Given the description of an element on the screen output the (x, y) to click on. 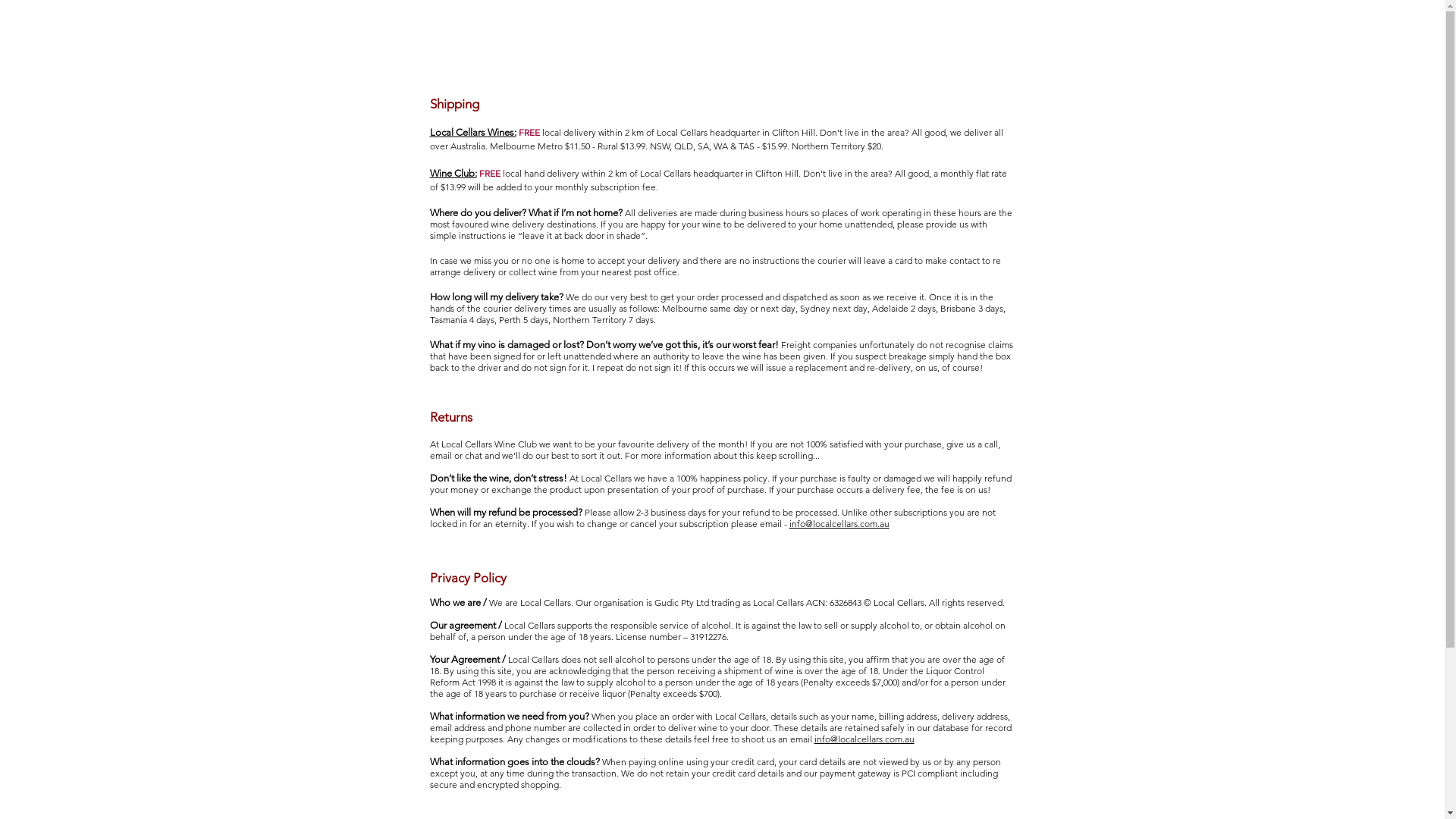
info@localcellars.com.au Element type: text (838, 523)
info@localcellars.com.au Element type: text (864, 738)
